Given the description of an element on the screen output the (x, y) to click on. 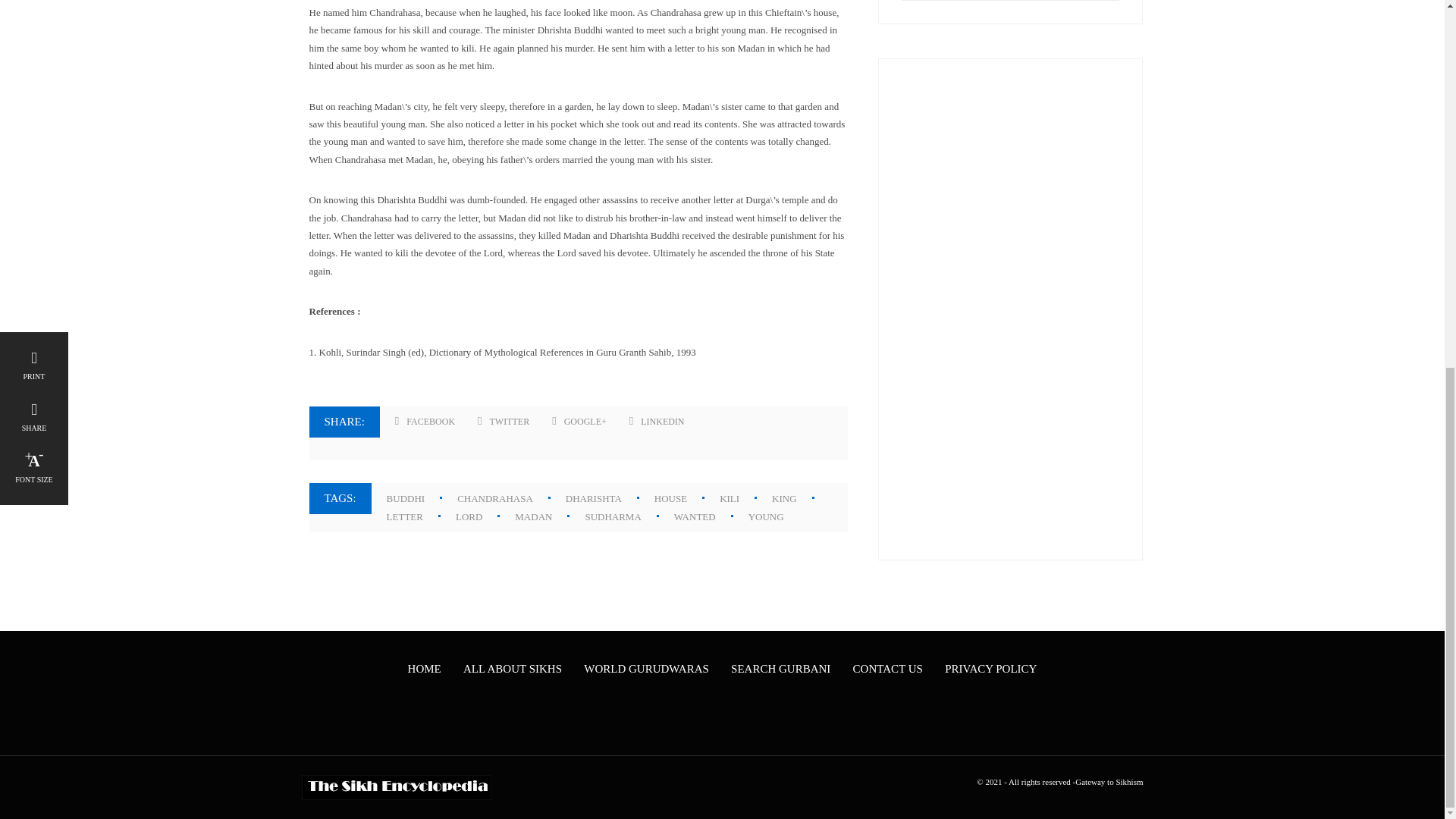
Advertisement (1010, 309)
The Sikh Encyclopedia (396, 787)
Share toLinkedin (656, 422)
Share toFacebook (424, 422)
Share toTwitter (503, 422)
